Given the description of an element on the screen output the (x, y) to click on. 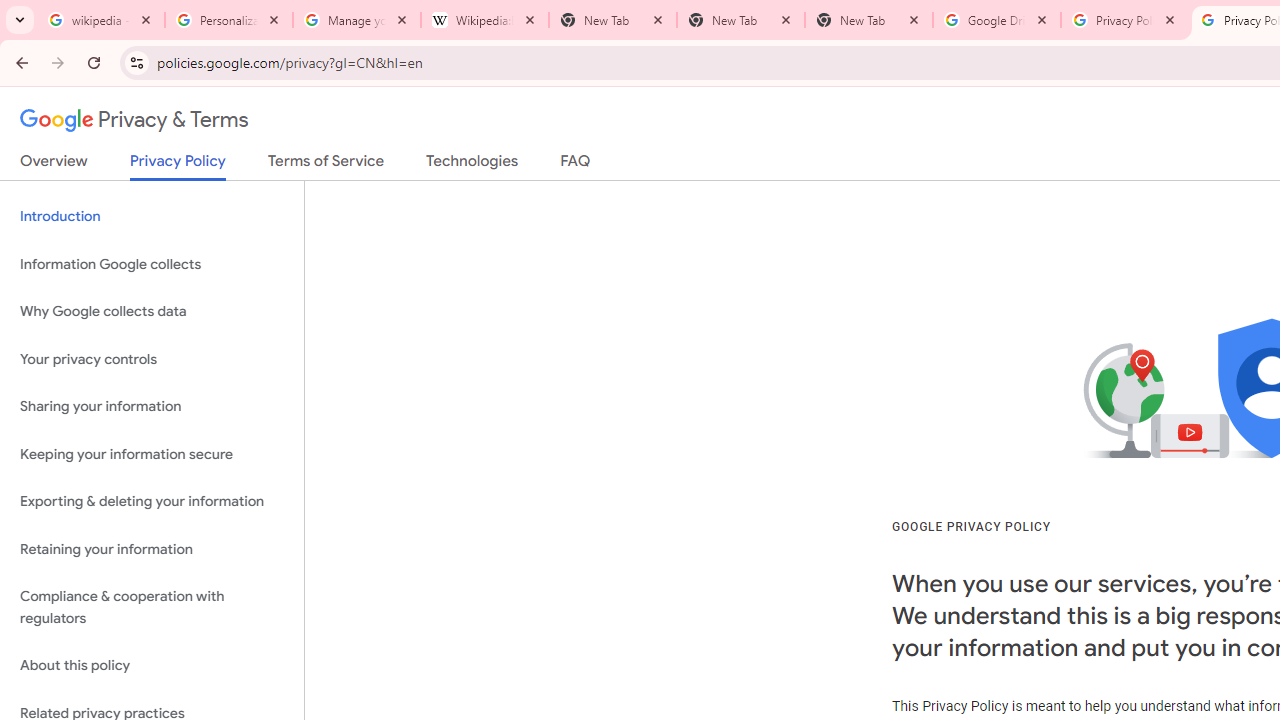
Overview (54, 165)
Privacy & Terms (134, 120)
Privacy Policy (177, 166)
Exporting & deleting your information (152, 502)
FAQ (575, 165)
Manage your Location History - Google Search Help (357, 20)
Introduction (152, 216)
About this policy (152, 666)
Why Google collects data (152, 312)
Wikipedia:Edit requests - Wikipedia (485, 20)
Sharing your information (152, 407)
